Given the description of an element on the screen output the (x, y) to click on. 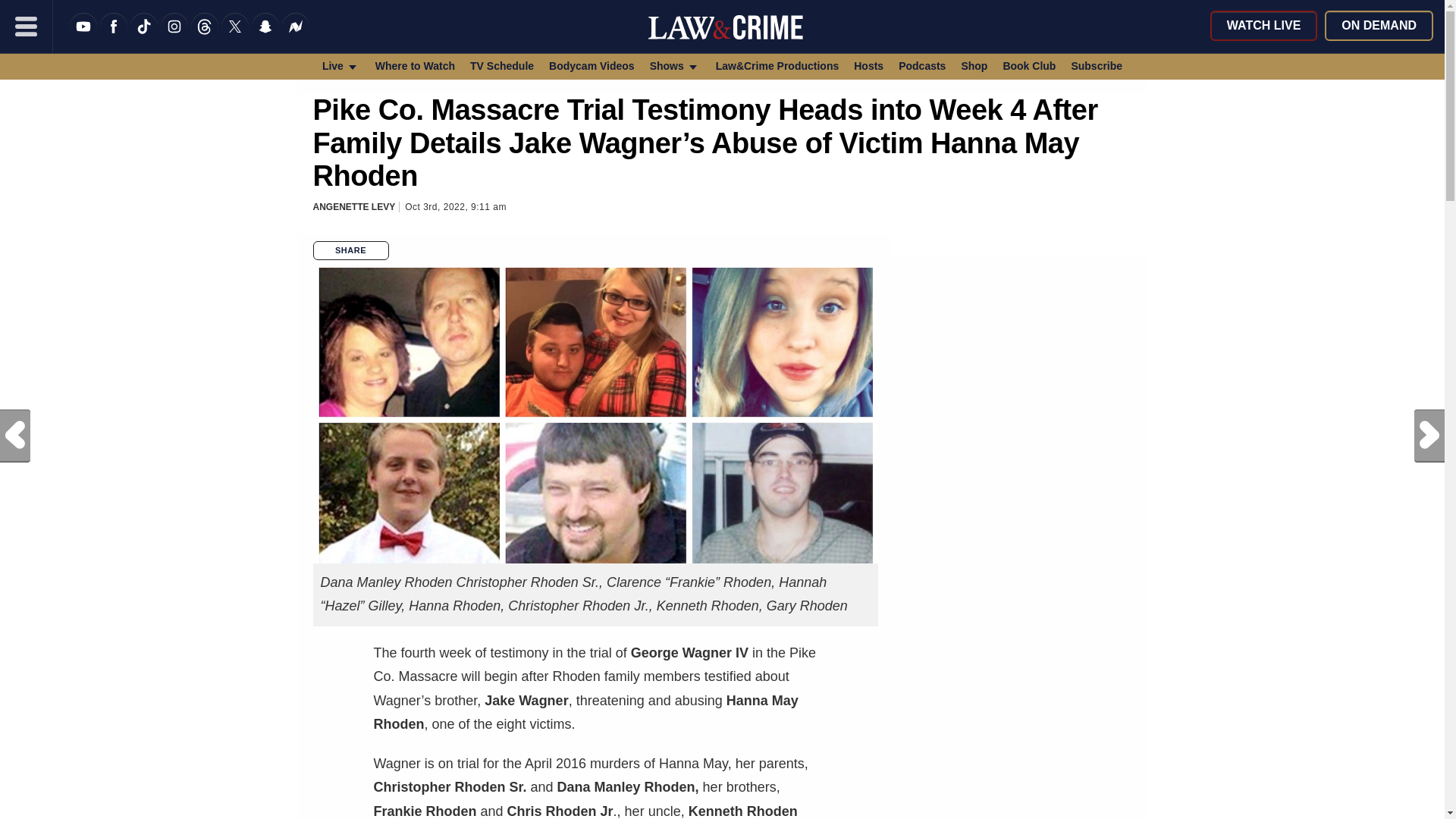
Posts by Angenette Levy (353, 206)
YouTube (83, 35)
Threads (204, 35)
Like us on Facebook (114, 35)
Instagram (173, 35)
News Break (295, 35)
Snapchat (265, 35)
TikTok (144, 35)
